Given the description of an element on the screen output the (x, y) to click on. 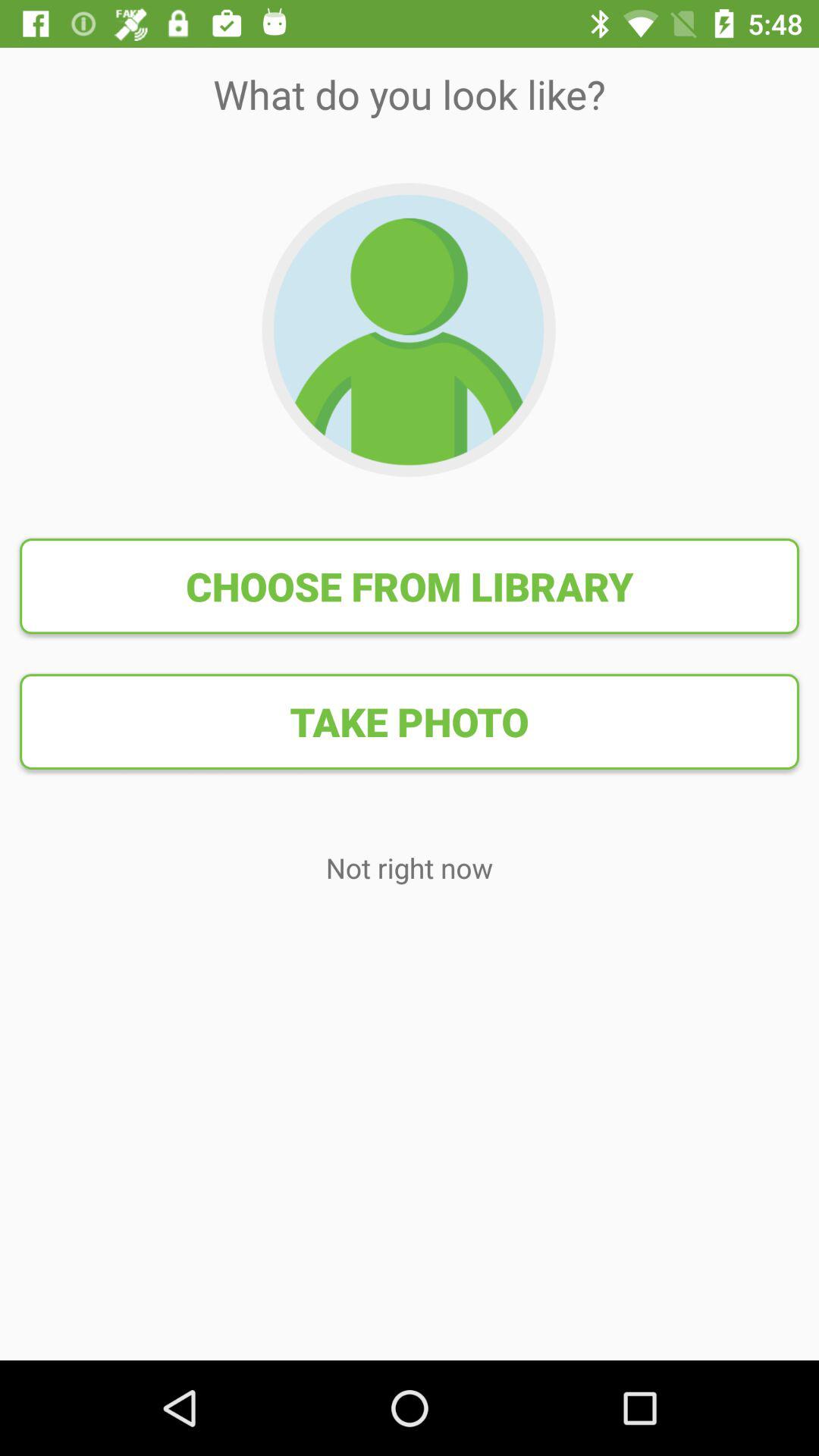
turn on the item above not right now icon (409, 721)
